Given the description of an element on the screen output the (x, y) to click on. 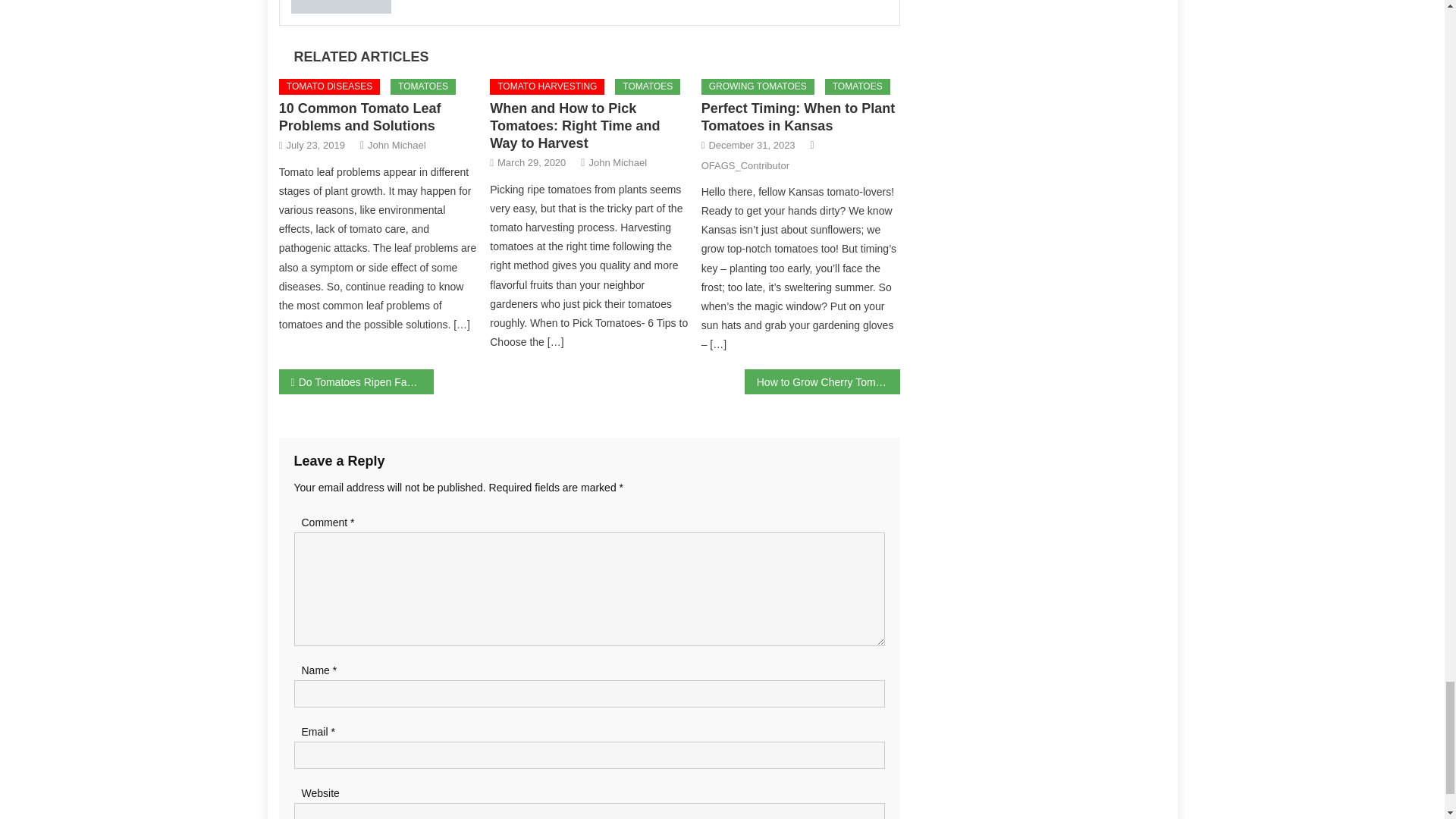
July 23, 2019 (315, 144)
TOMATOES (422, 86)
TOMATO DISEASES (329, 86)
John Michael (397, 144)
10 Common Tomato Leaf Problems and Solutions (360, 116)
